Given the description of an element on the screen output the (x, y) to click on. 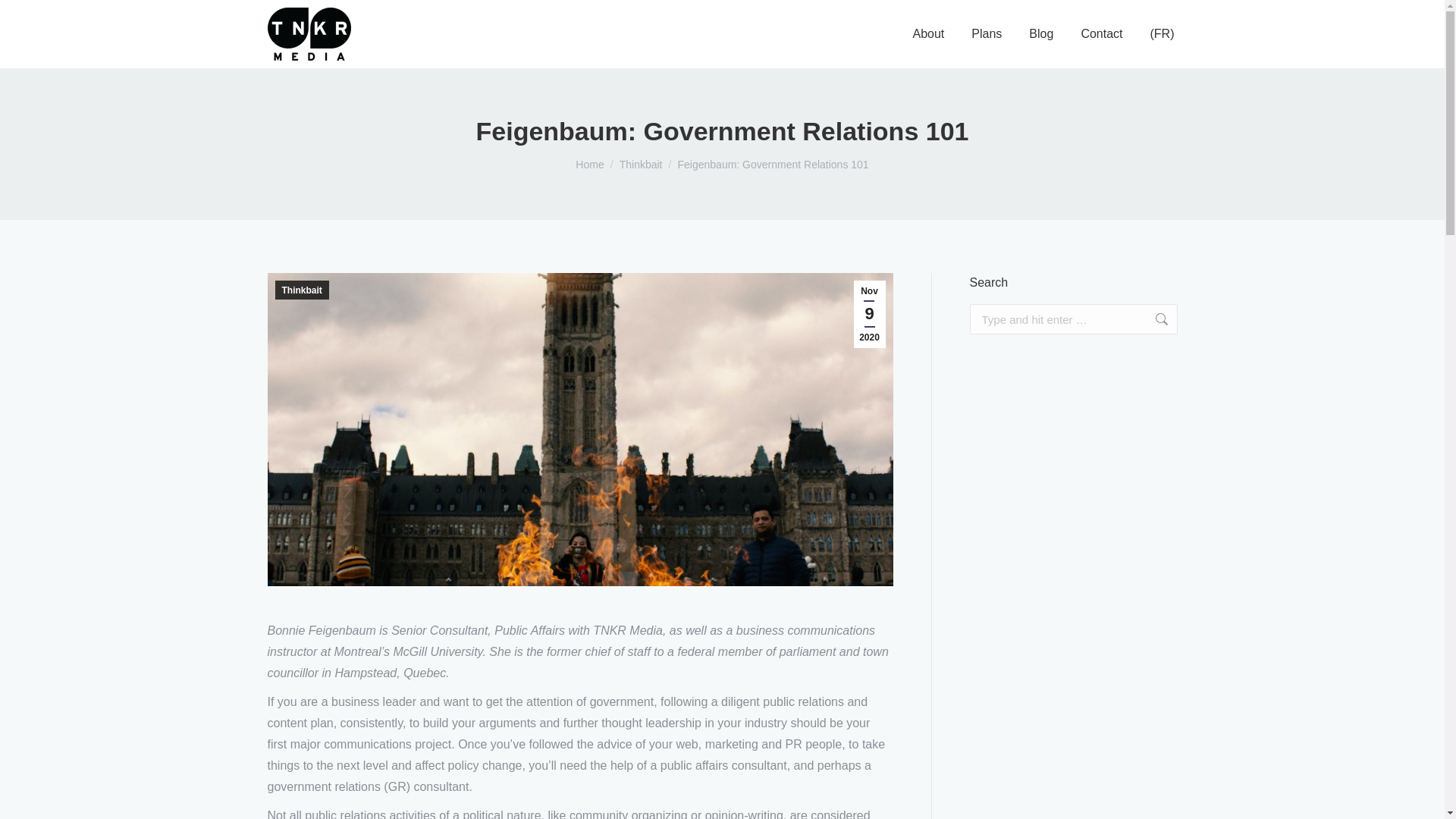
Go! (1153, 318)
Thinkbait (302, 289)
Thinkbait (641, 164)
Plans (986, 33)
Home (589, 164)
Go! (1153, 318)
About (928, 33)
Home (589, 164)
Thinkbait (641, 164)
Contact (1101, 33)
